Given the description of an element on the screen output the (x, y) to click on. 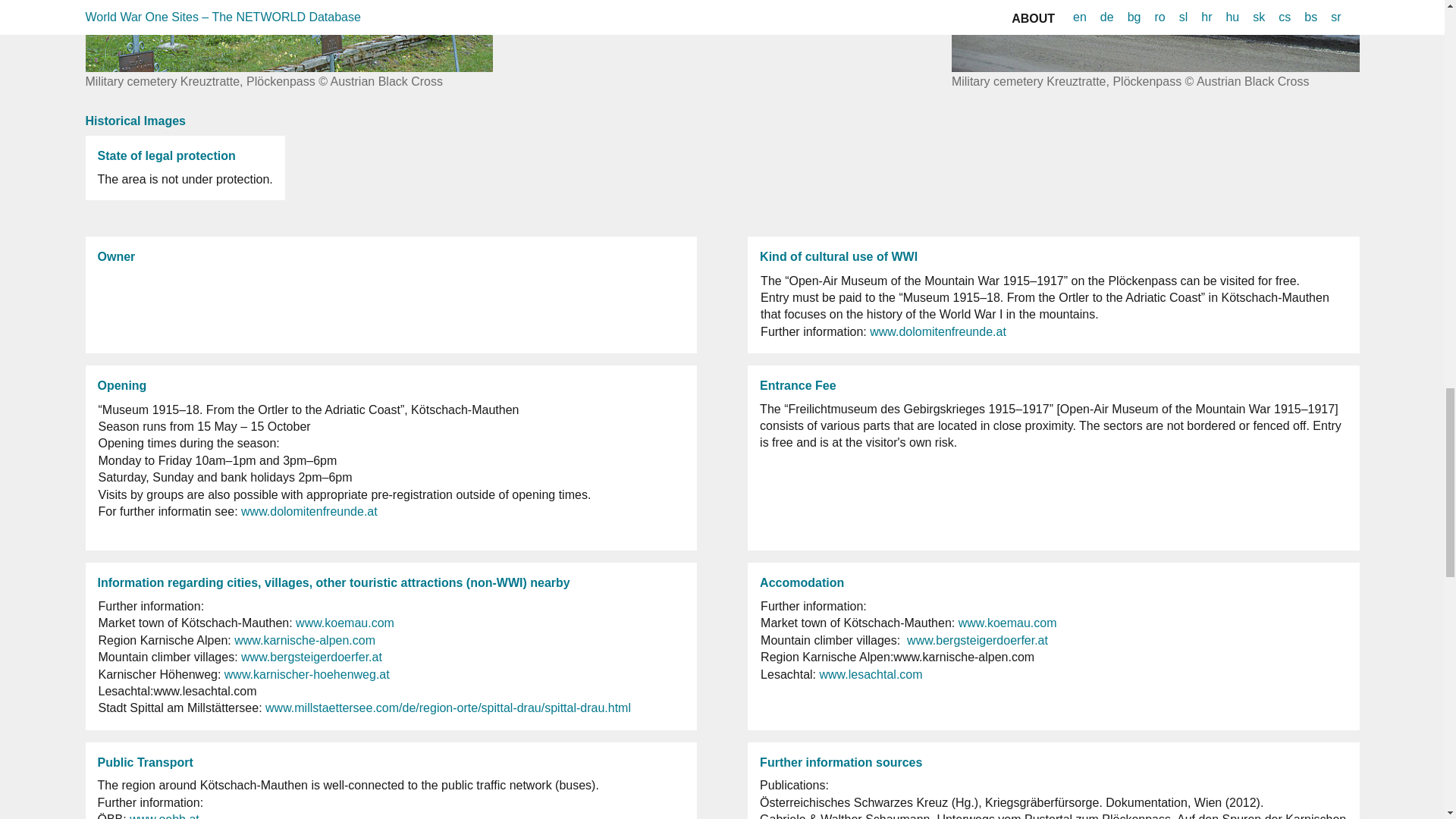
www.bergsteigerdoerfer.at (311, 656)
www.oebb.at (164, 816)
www.koemau.com (344, 622)
www.karnischer-hoehenweg.at (307, 674)
www.koemau.com (1007, 622)
www.karnische-alpen.com (304, 640)
www.bergsteigerdoerfer.at (977, 640)
www.lesachtal.com (869, 674)
www.dolomitenfreunde.at (937, 331)
www.dolomitenfreunde.at (309, 511)
